Given the description of an element on the screen output the (x, y) to click on. 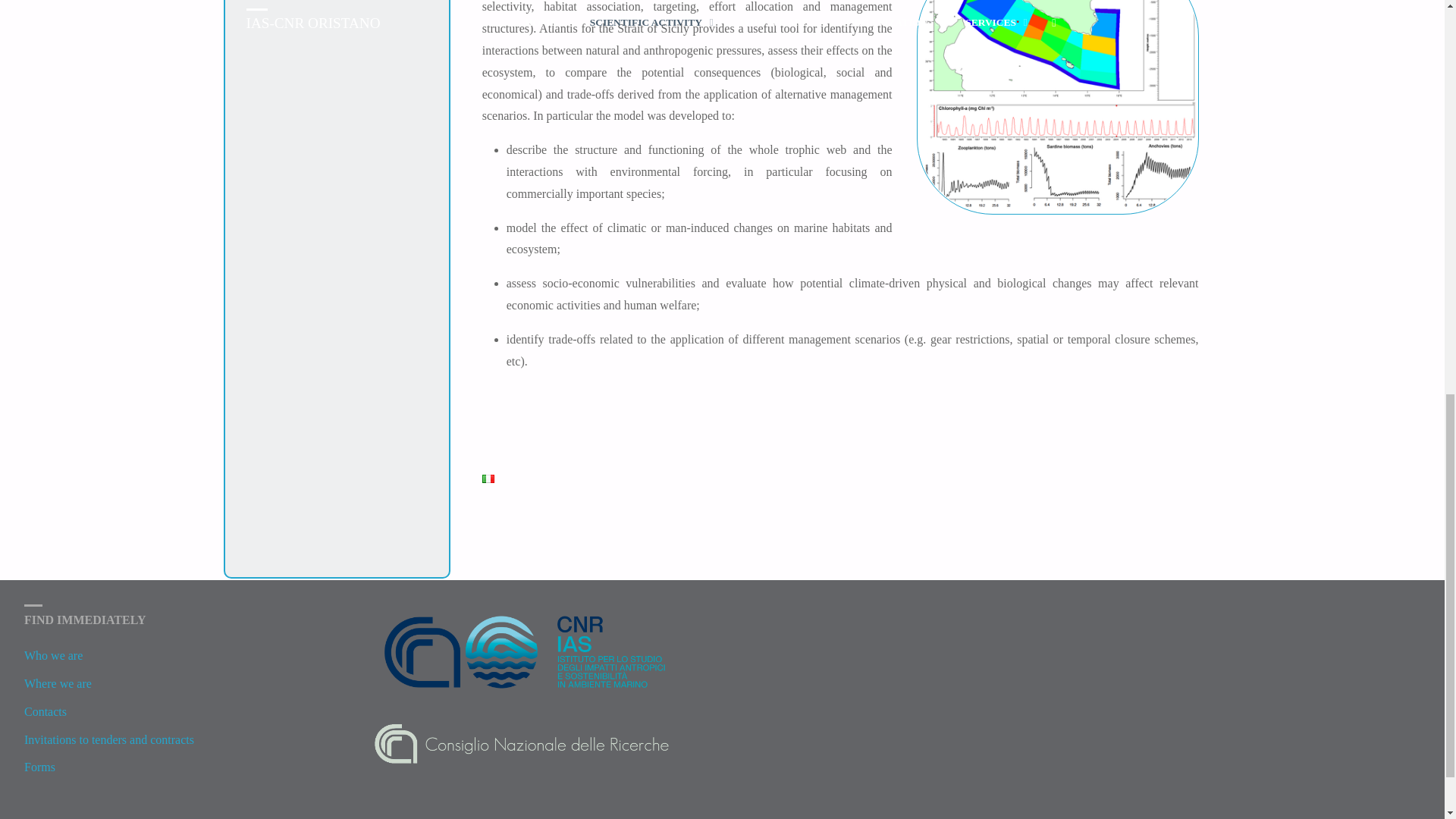
Italiano (488, 479)
